Given the description of an element on the screen output the (x, y) to click on. 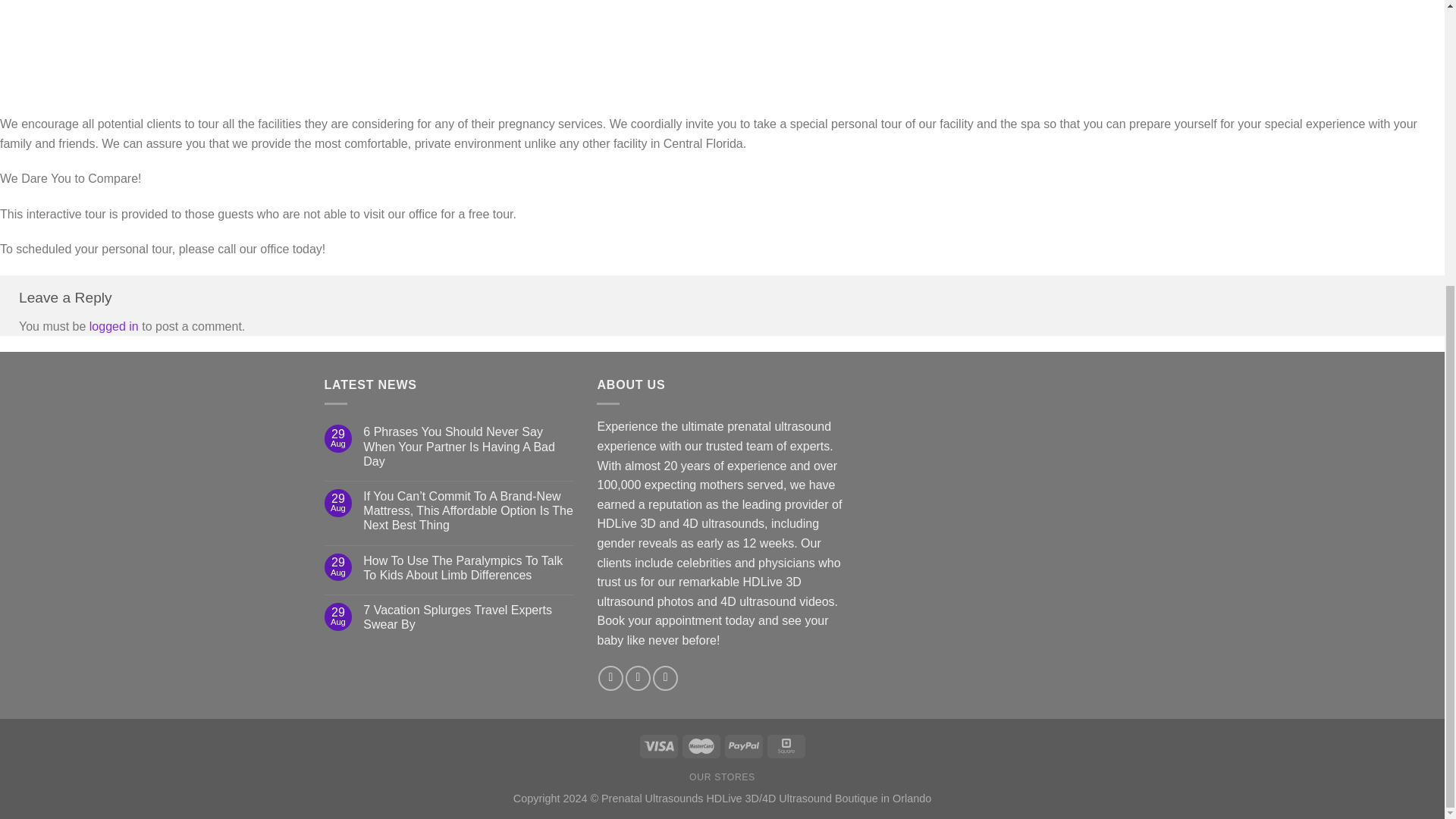
OUR STORES (721, 777)
logged in (113, 326)
7 Vacation Splurges Travel Experts Swear By (467, 616)
